Given the description of an element on the screen output the (x, y) to click on. 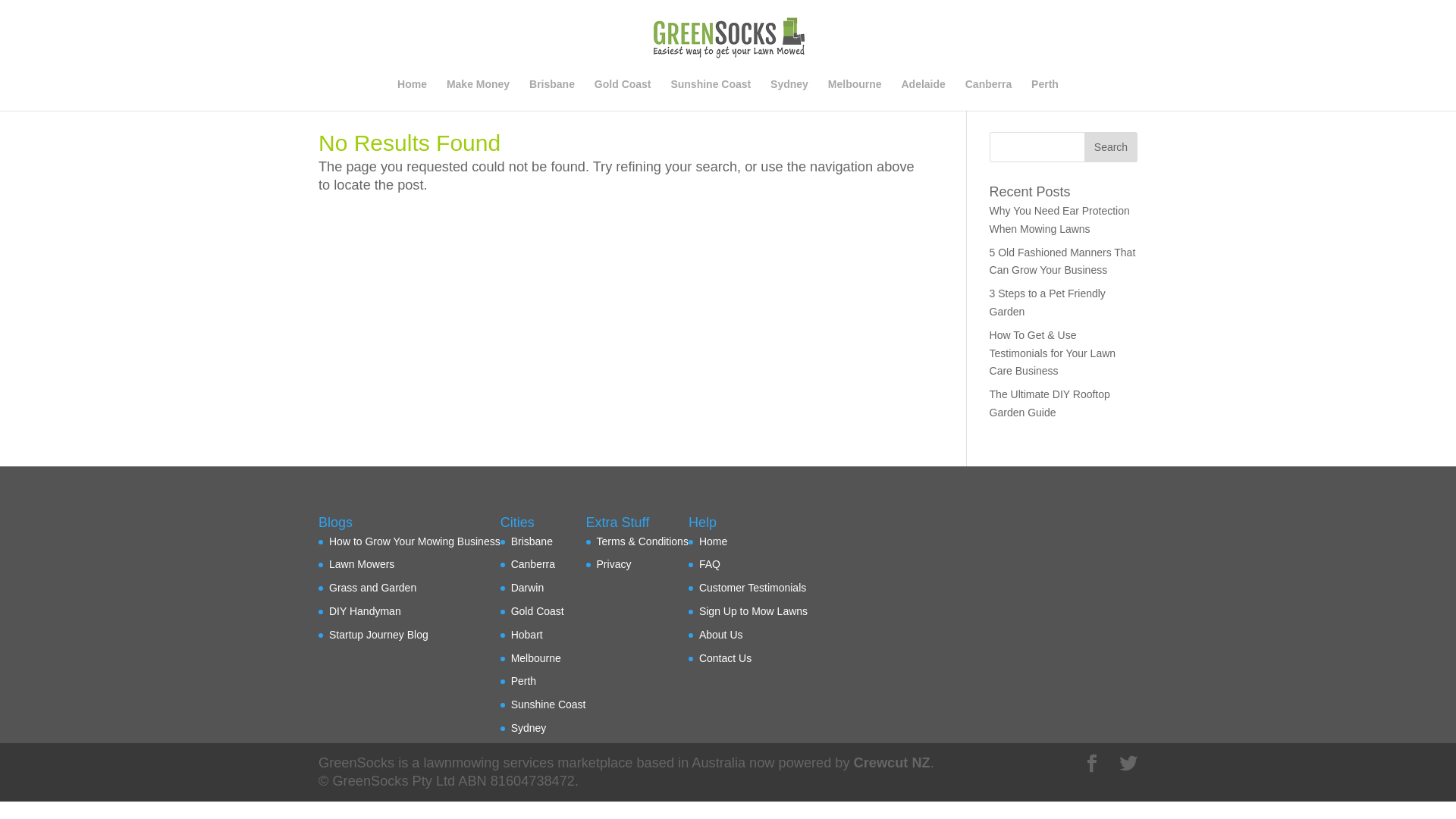
Search Element type: text (1110, 146)
Canberra Element type: text (988, 94)
Terms & Conditions Element type: text (642, 541)
Crewcut NZ Element type: text (891, 762)
Brisbane Element type: text (551, 94)
How to Grow Your Mowing Business Element type: text (414, 541)
Sign Up to Mow Lawns Element type: text (753, 611)
Perth Element type: text (1044, 94)
DIY Handyman Element type: text (365, 611)
Gold Coast Element type: text (622, 94)
Sunshine Coast Element type: text (548, 704)
Contact Us Element type: text (725, 658)
5 Old Fashioned Manners That Can Grow Your Business Element type: text (1062, 261)
Privacy Element type: text (613, 564)
3 Steps to a Pet Friendly Garden Element type: text (1047, 302)
FAQ Element type: text (709, 564)
Sunshine Coast Element type: text (710, 94)
Make Money Element type: text (477, 94)
Gold Coast Element type: text (537, 611)
Melbourne Element type: text (536, 658)
Canberra Element type: text (533, 564)
Darwin Element type: text (527, 587)
Home Element type: text (411, 94)
Sydney Element type: text (528, 727)
About Us Element type: text (721, 634)
Lawn Mowers Element type: text (361, 564)
The Ultimate DIY Rooftop Garden Guide Element type: text (1049, 403)
Sydney Element type: text (789, 94)
Grass and Garden Element type: text (372, 587)
Why You Need Ear Protection When Mowing Lawns Element type: text (1059, 219)
Adelaide Element type: text (922, 94)
Brisbane Element type: text (531, 541)
Customer Testimonials Element type: text (752, 587)
Melbourne Element type: text (854, 94)
Perth Element type: text (523, 680)
How To Get & Use Testimonials for Your Lawn Care Business Element type: text (1052, 353)
Hobart Element type: text (526, 634)
Home Element type: text (713, 541)
Startup Journey Blog Element type: text (378, 634)
